Given the description of an element on the screen output the (x, y) to click on. 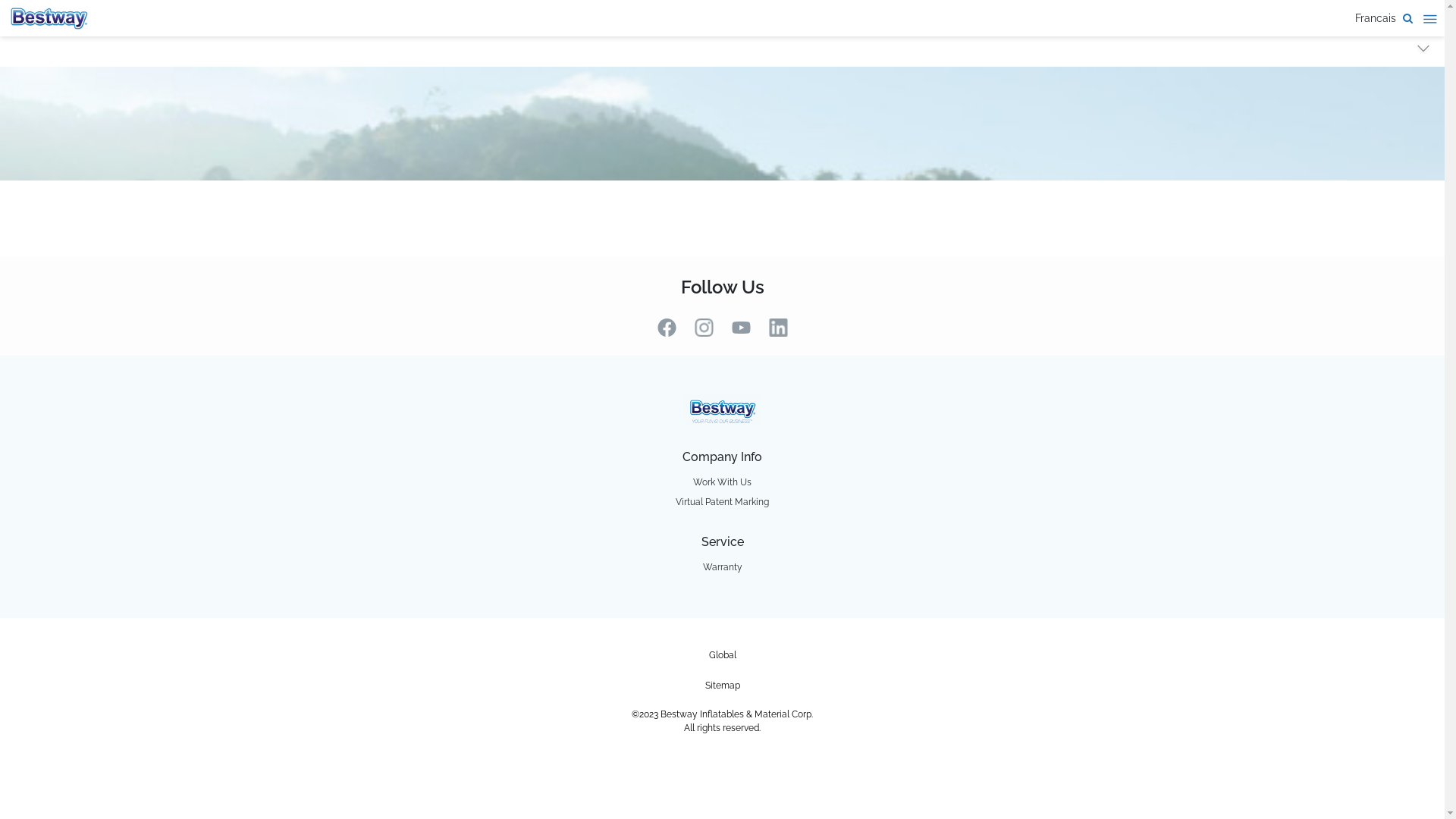
Sitemap Element type: text (722, 685)
Global Element type: text (722, 655)
Francais Element type: text (1375, 18)
Work With Us Element type: text (722, 481)
Warranty Element type: text (721, 566)
Virtual Patent Marking Element type: text (721, 501)
